Given the description of an element on the screen output the (x, y) to click on. 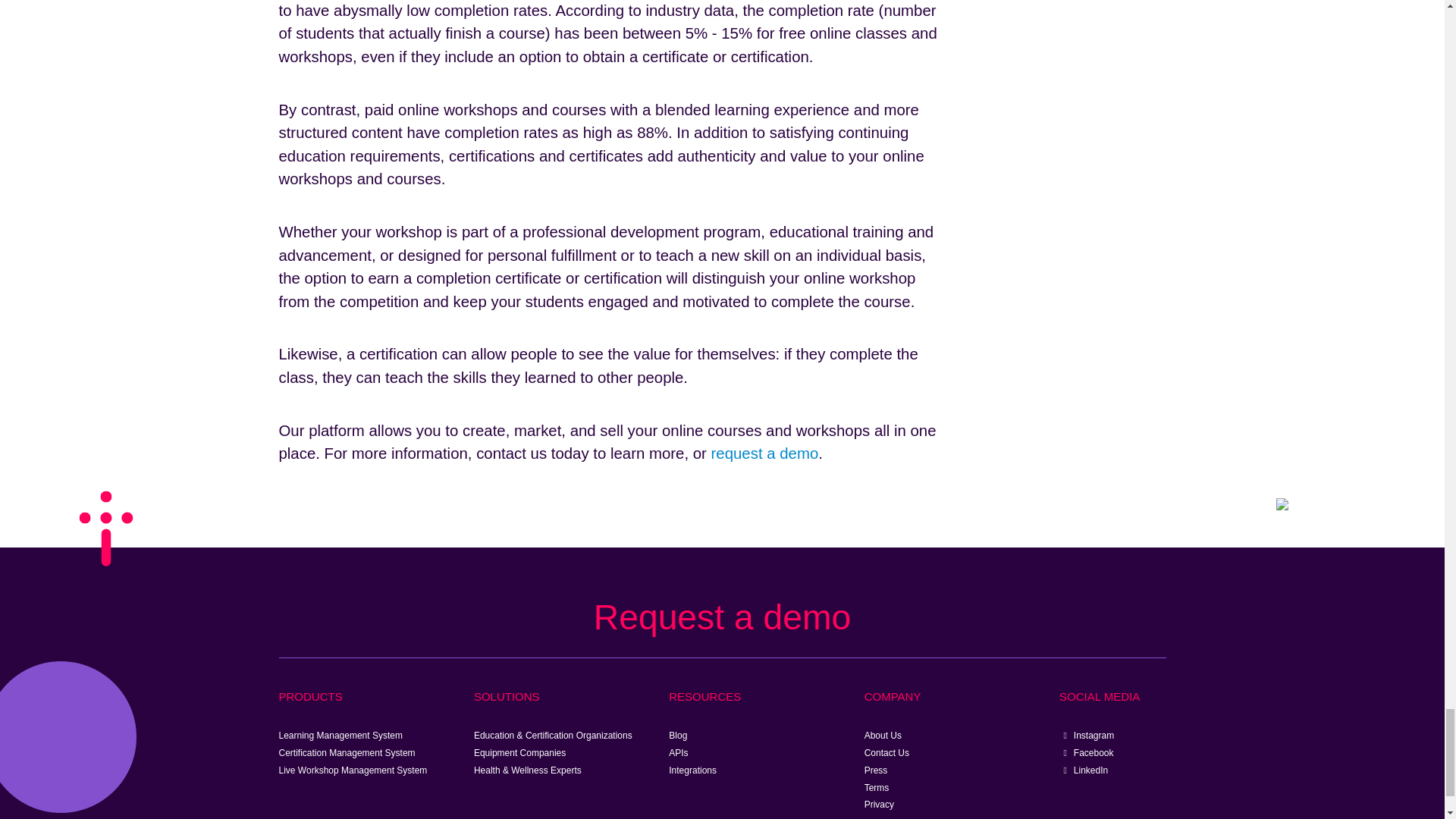
Certification Management System (346, 752)
PRODUCTS (310, 696)
SOLUTIONS (507, 696)
request a demo (764, 453)
Live Workshop Management System (353, 769)
Learning Management System (341, 735)
